Given the description of an element on the screen output the (x, y) to click on. 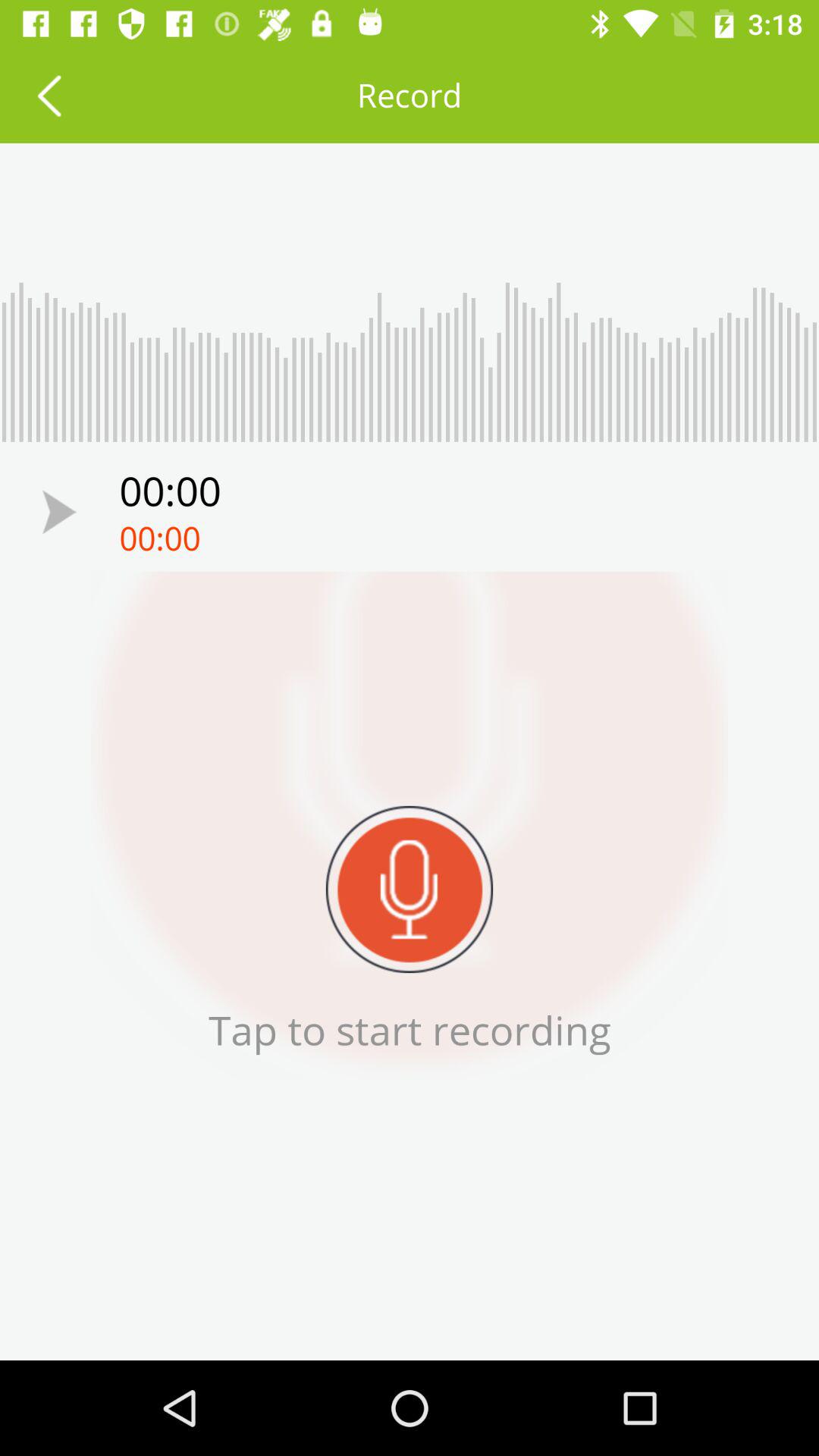
turn off icon to the left of record (48, 95)
